Given the description of an element on the screen output the (x, y) to click on. 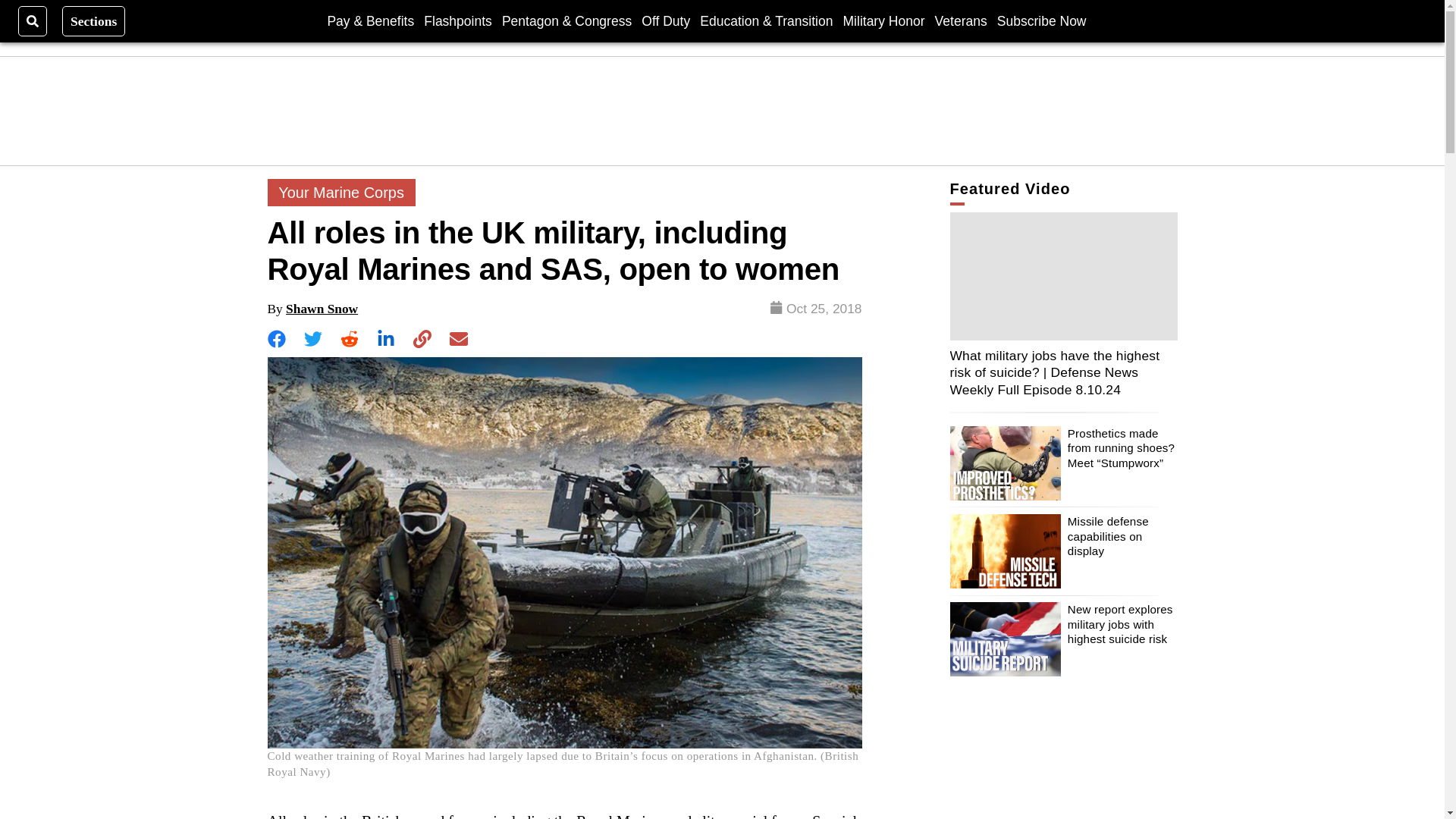
Sections (93, 20)
Military Honor (883, 20)
Veterans (960, 20)
Flashpoints (457, 20)
Off Duty (666, 20)
